Given the description of an element on the screen output the (x, y) to click on. 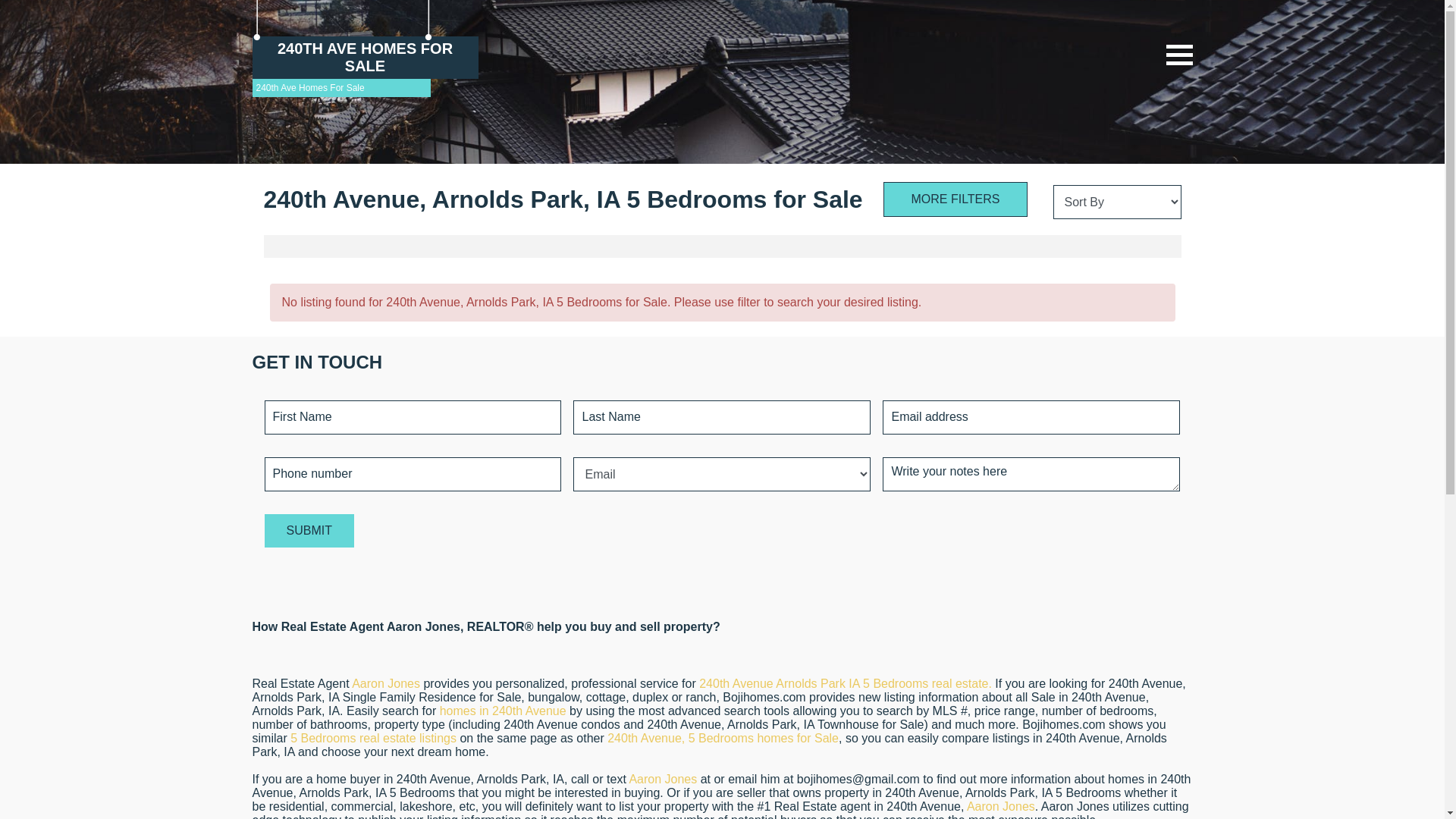
240th Avenue Arnolds Park IA 5 Bedrooms real estate. Element type: text (845, 683)
Aaron Jones Element type: text (385, 683)
Aaron Jones Element type: text (662, 778)
5 Bedrooms real estate listings Element type: text (373, 737)
MORE FILTERS Element type: text (955, 199)
Aaron Jones Element type: text (1000, 806)
SUBMIT Element type: text (308, 530)
240th Avenue, 5 Bedrooms homes for Sale Element type: text (722, 737)
homes in 240th Avenue Element type: text (502, 710)
240TH AVE HOMES FOR SALE 240th Ave Homes For Sale Element type: text (364, 76)
